Given the description of an element on the screen output the (x, y) to click on. 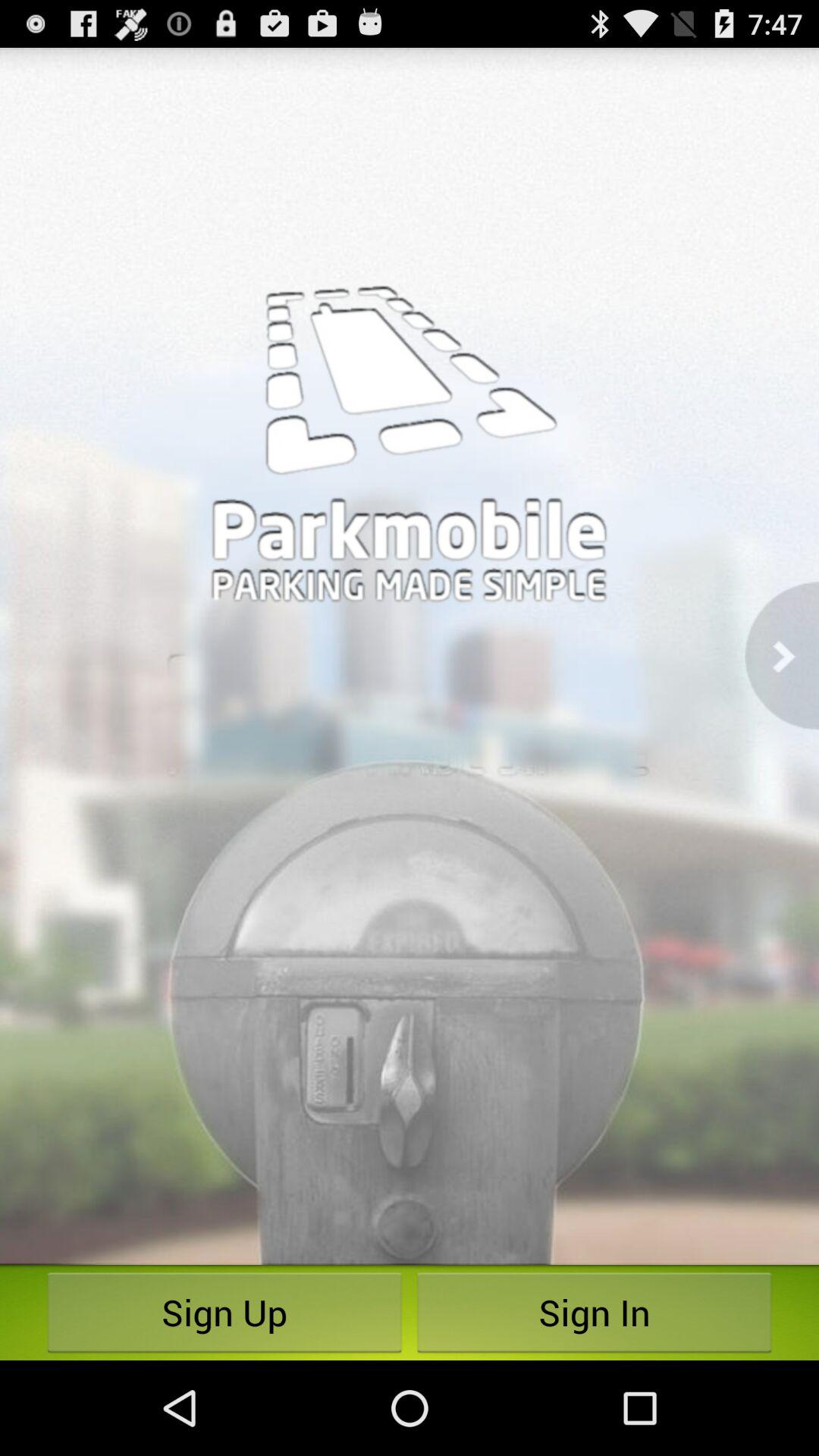
jump until sign in (594, 1312)
